Given the description of an element on the screen output the (x, y) to click on. 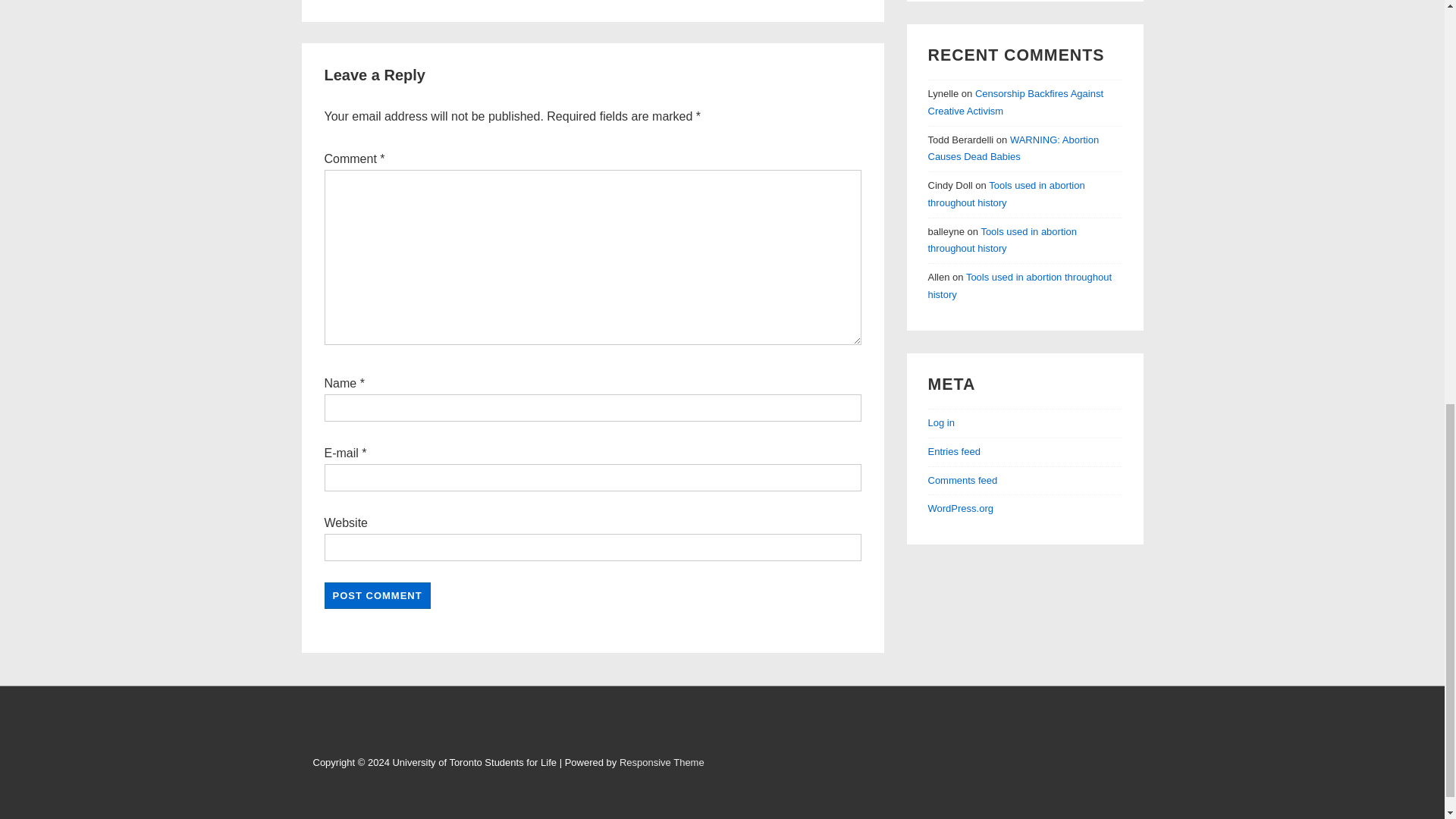
Post Comment (377, 595)
Post Comment (377, 595)
